Given the description of an element on the screen output the (x, y) to click on. 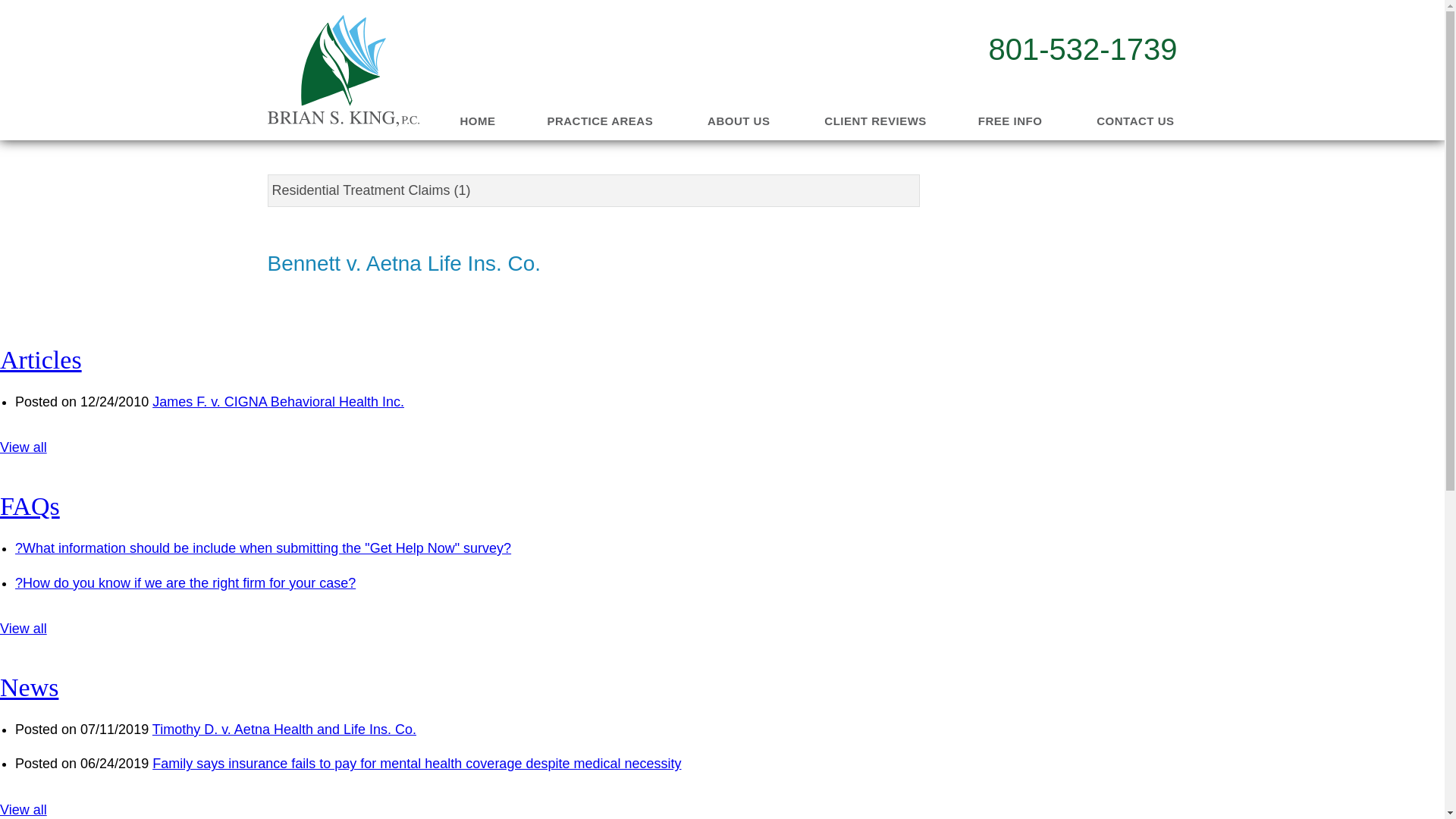
CLIENT REVIEWS (874, 121)
FAQs (29, 506)
FREE INFO (1011, 121)
?How do you know if we are the right firm for your case? (184, 582)
HOME (477, 121)
Articles (40, 359)
View all (23, 447)
James F. v. CIGNA Behavioral Health Inc. (278, 401)
Bennett v. Aetna Life Ins. Co. (419, 269)
